Given the description of an element on the screen output the (x, y) to click on. 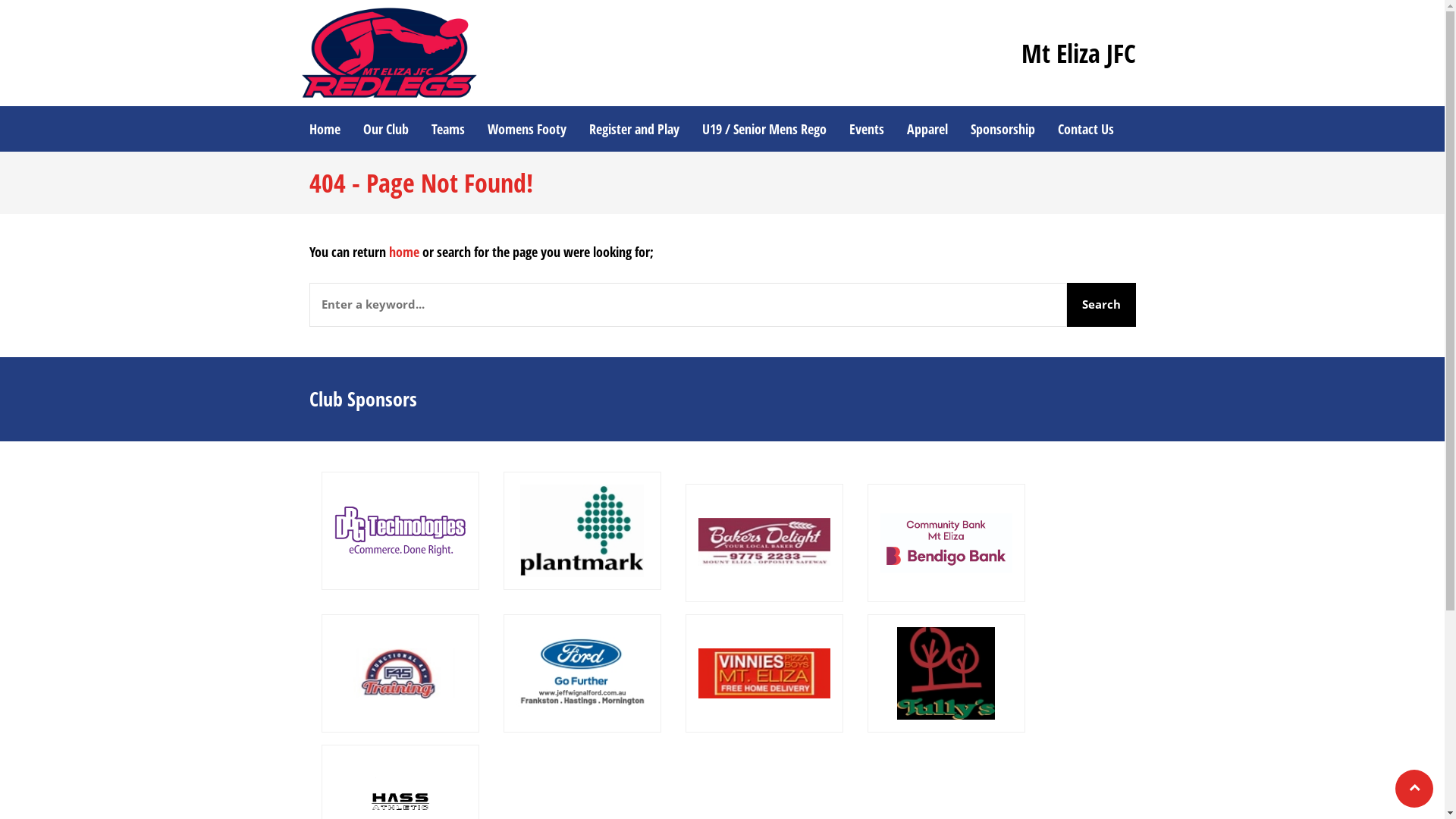
Register and Play Element type: text (633, 128)
Sponsorship Element type: text (1001, 128)
Teams Element type: text (448, 128)
Our Club Element type: text (385, 128)
Contact Us Element type: text (1085, 128)
Search Element type: text (1100, 304)
home Element type: text (403, 251)
Home Element type: text (324, 128)
Events Element type: text (865, 128)
U19 / Senior Mens Rego Element type: text (763, 128)
Womens Footy Element type: text (526, 128)
Apparel Element type: text (926, 128)
